Given the description of an element on the screen output the (x, y) to click on. 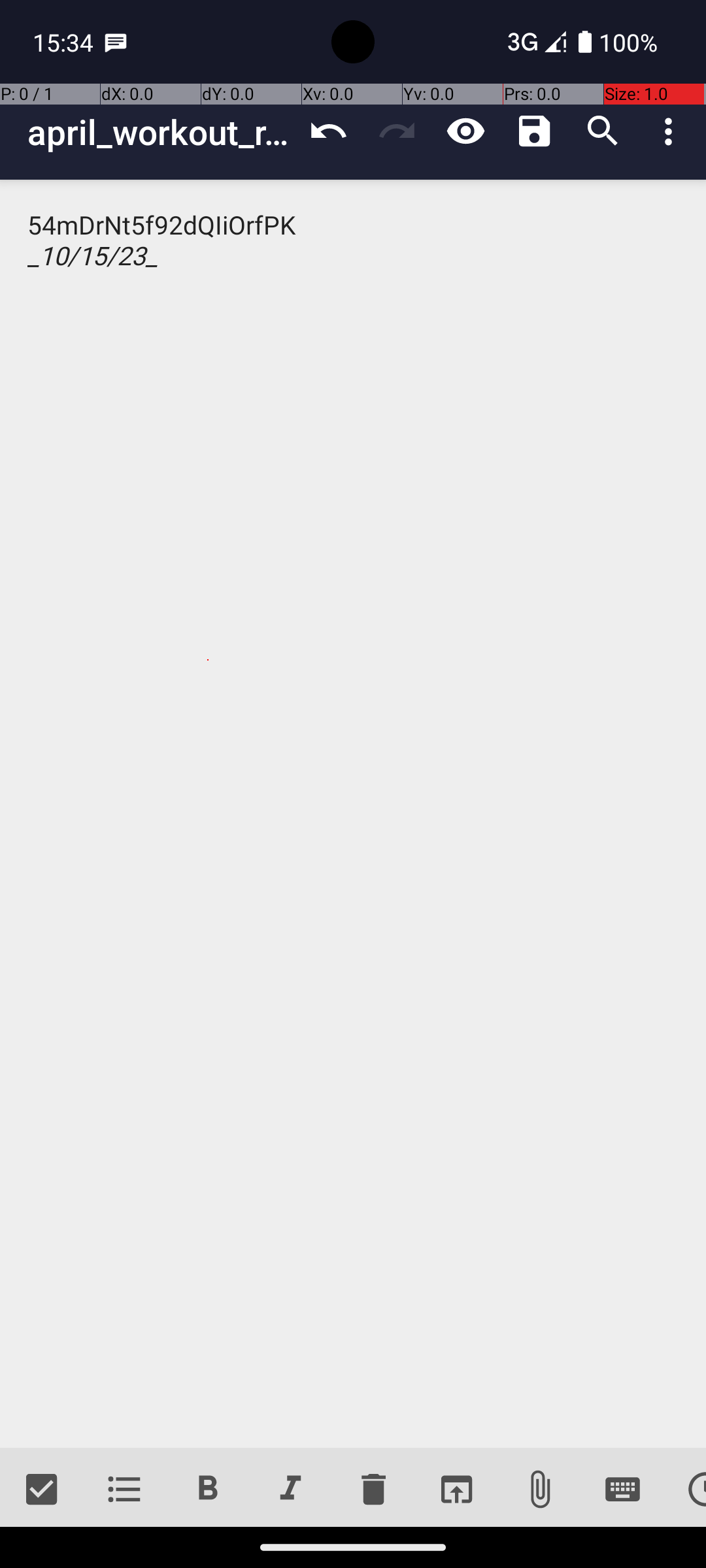
april_workout_routine_2023_02_19 Element type: android.widget.TextView (160, 131)
54mDrNt5f92dQIiOrfPK
_10/15/23_ Element type: android.widget.EditText (353, 813)
